Given the description of an element on the screen output the (x, y) to click on. 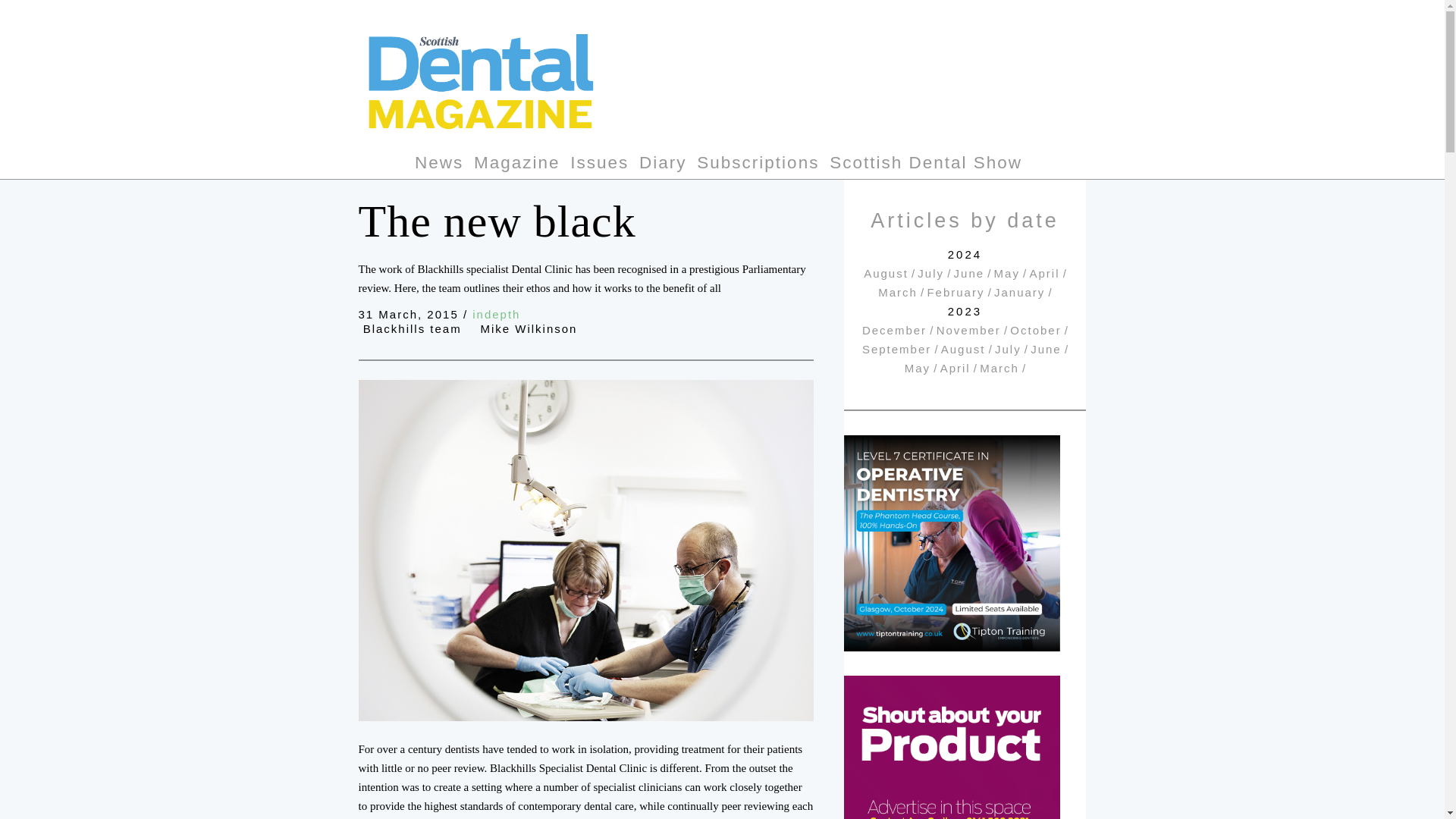
Magazine (517, 166)
indepth (495, 314)
Issues (599, 166)
May (1007, 273)
News (438, 166)
Click here to download archive issues of SD Magazine (599, 166)
2024 (964, 254)
Scottish Dental Show (925, 166)
July (930, 273)
August (885, 273)
